Given the description of an element on the screen output the (x, y) to click on. 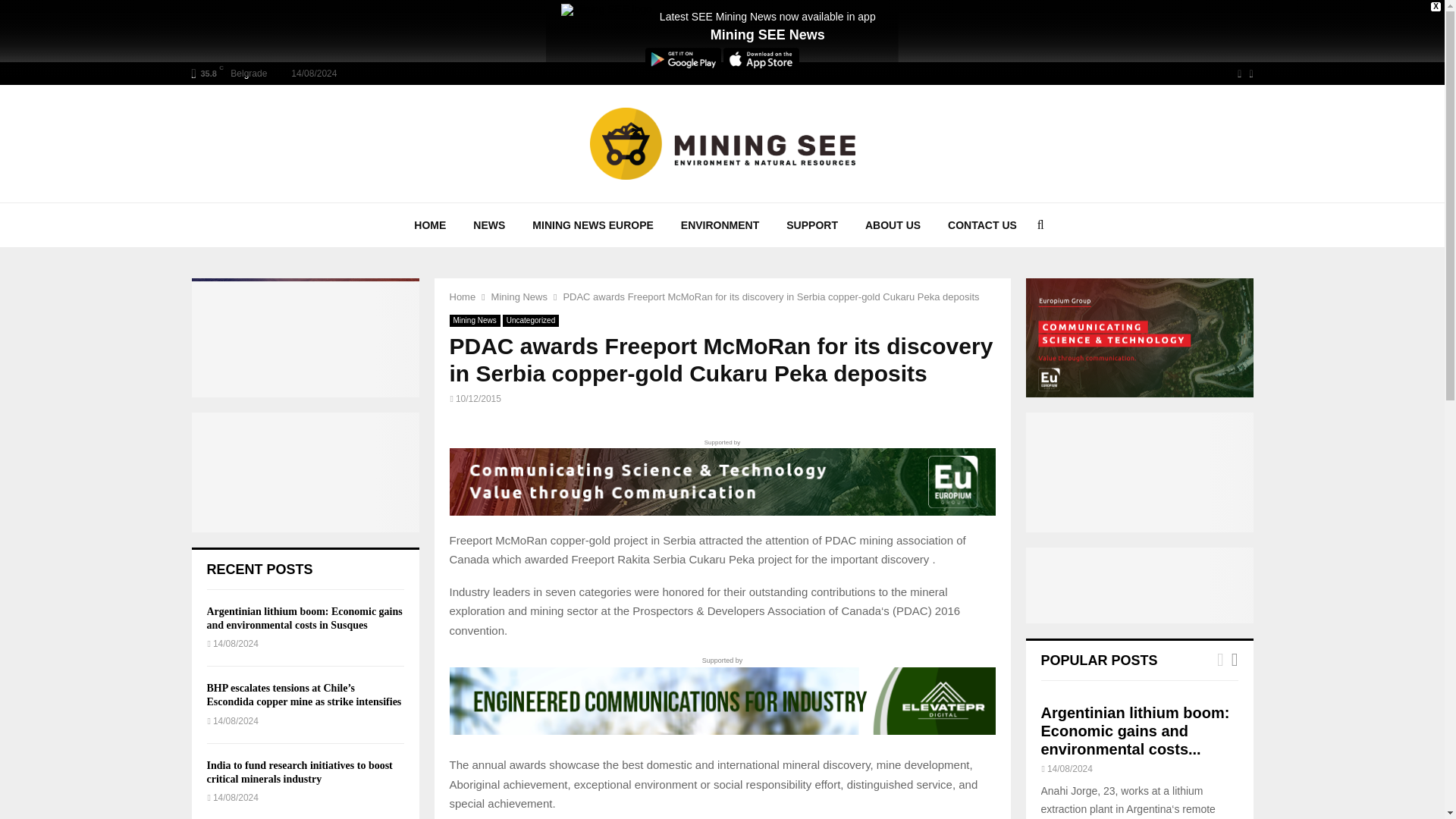
ABOUT US (892, 225)
Mining News (473, 320)
SUPPORT (812, 225)
HOME (430, 225)
Home (462, 296)
NEWS (489, 225)
Mining News (519, 296)
Uncategorized (530, 320)
